Given the description of an element on the screen output the (x, y) to click on. 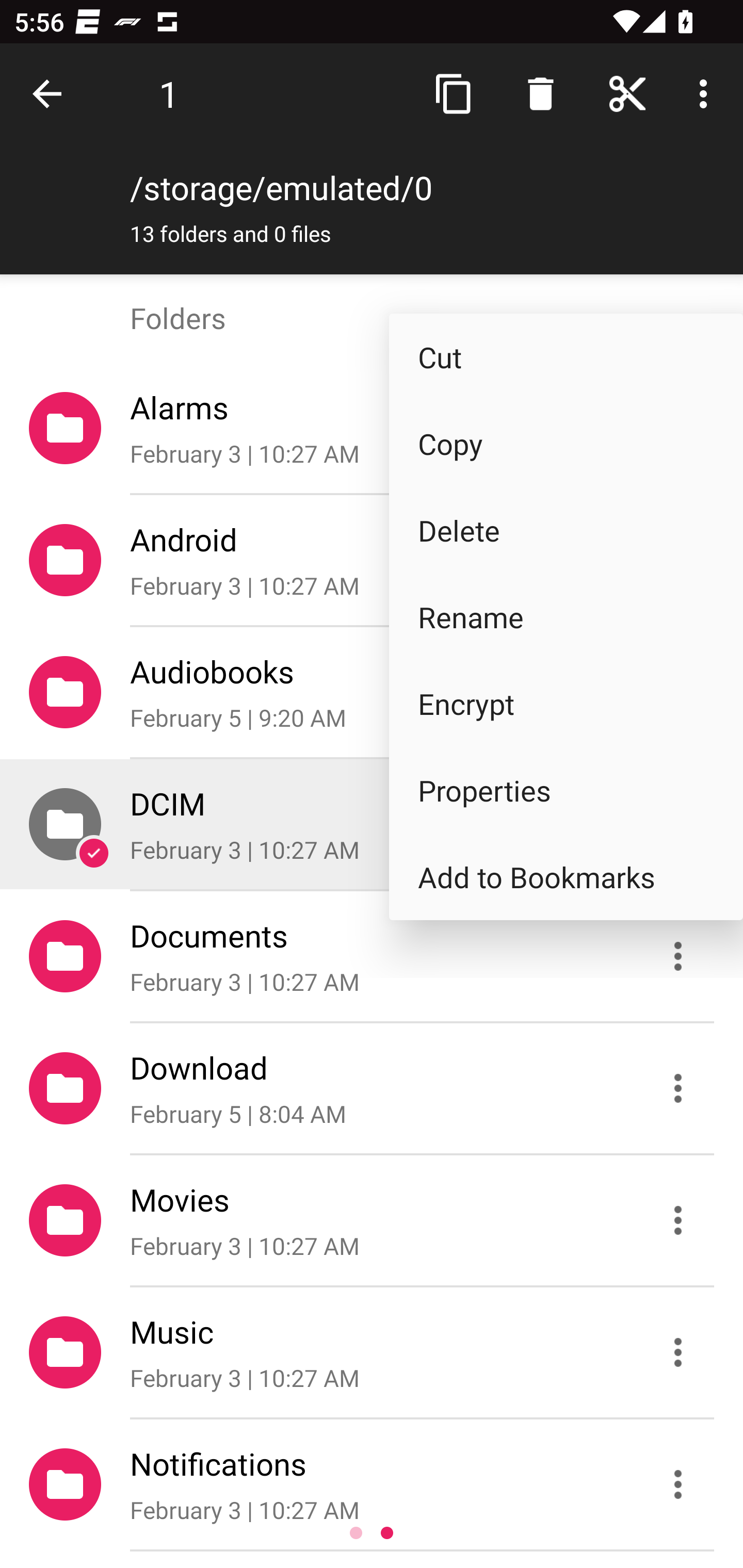
Cut (566, 356)
Copy (566, 443)
Delete (566, 530)
Rename (566, 616)
Encrypt (566, 703)
Properties (566, 790)
Add to Bookmarks (566, 877)
